Given the description of an element on the screen output the (x, y) to click on. 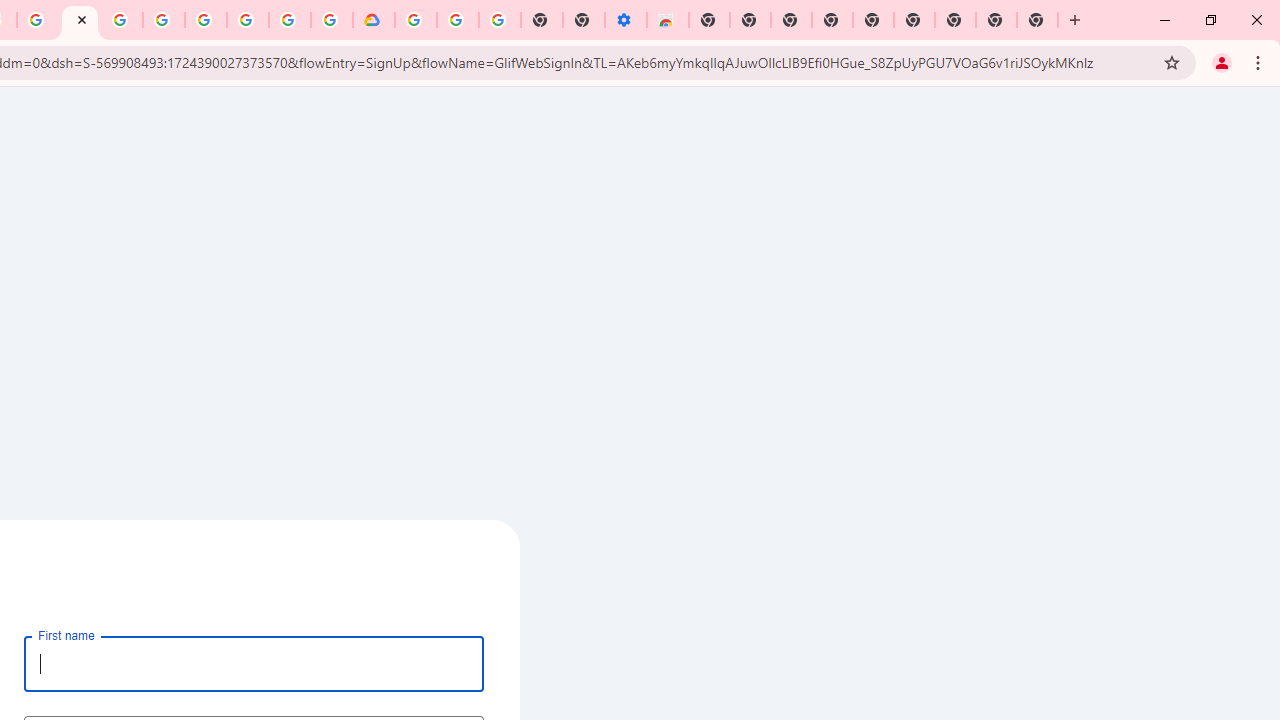
Google Account Help (457, 20)
Sign in - Google Accounts (164, 20)
Chrome Web Store - Accessibility extensions (667, 20)
New Tab (1037, 20)
Sign in - Google Accounts (415, 20)
Google Account Help (205, 20)
Ad Settings (122, 20)
Turn cookies on or off - Computer - Google Account Help (499, 20)
New Tab (708, 20)
Create your Google Account (79, 20)
Create your Google Account (289, 20)
